Given the description of an element on the screen output the (x, y) to click on. 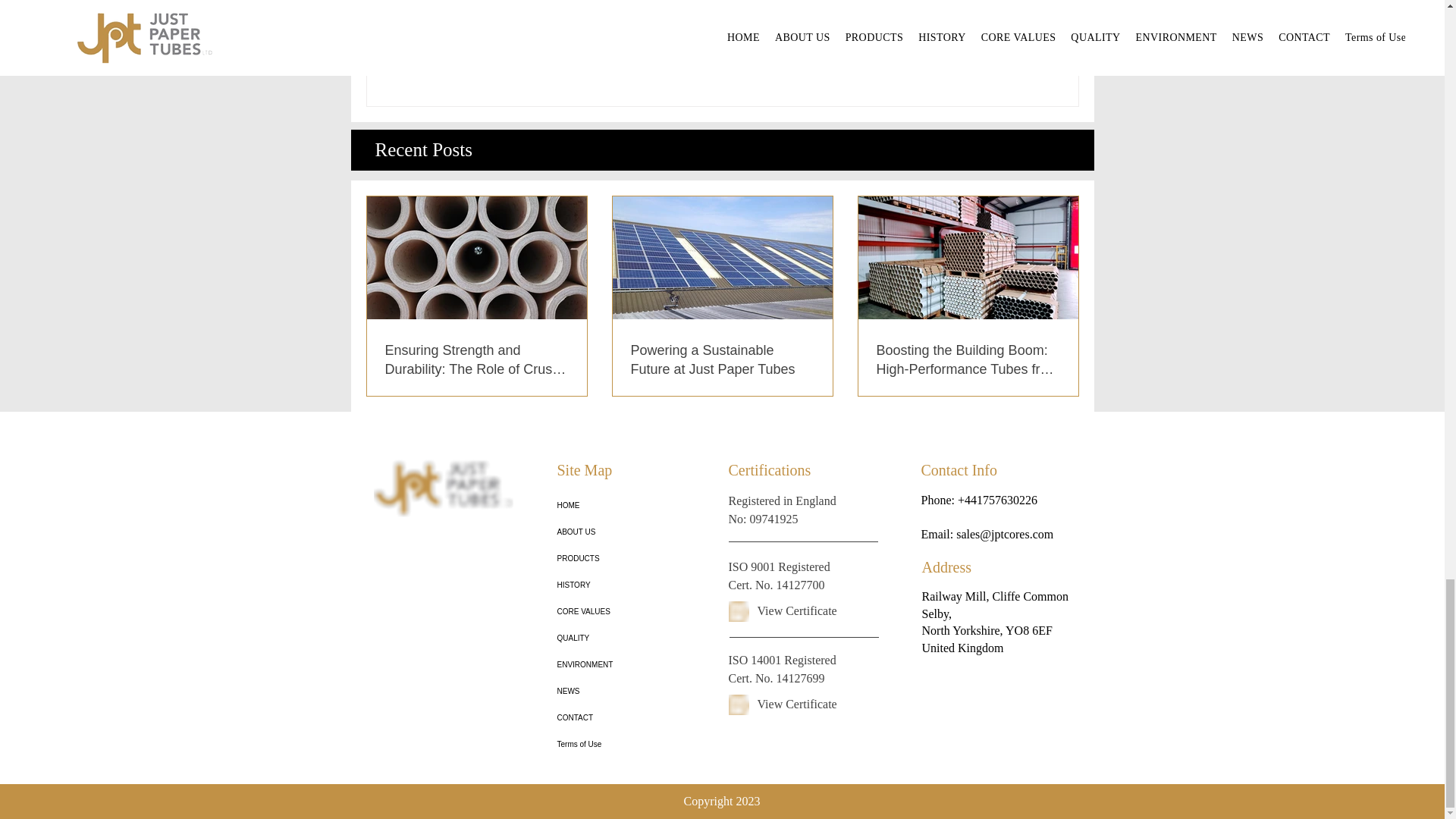
Powering a Sustainable Future at Just Paper Tubes (721, 360)
View Certificate (796, 703)
HOME (609, 505)
View Certificate (796, 610)
